Given the description of an element on the screen output the (x, y) to click on. 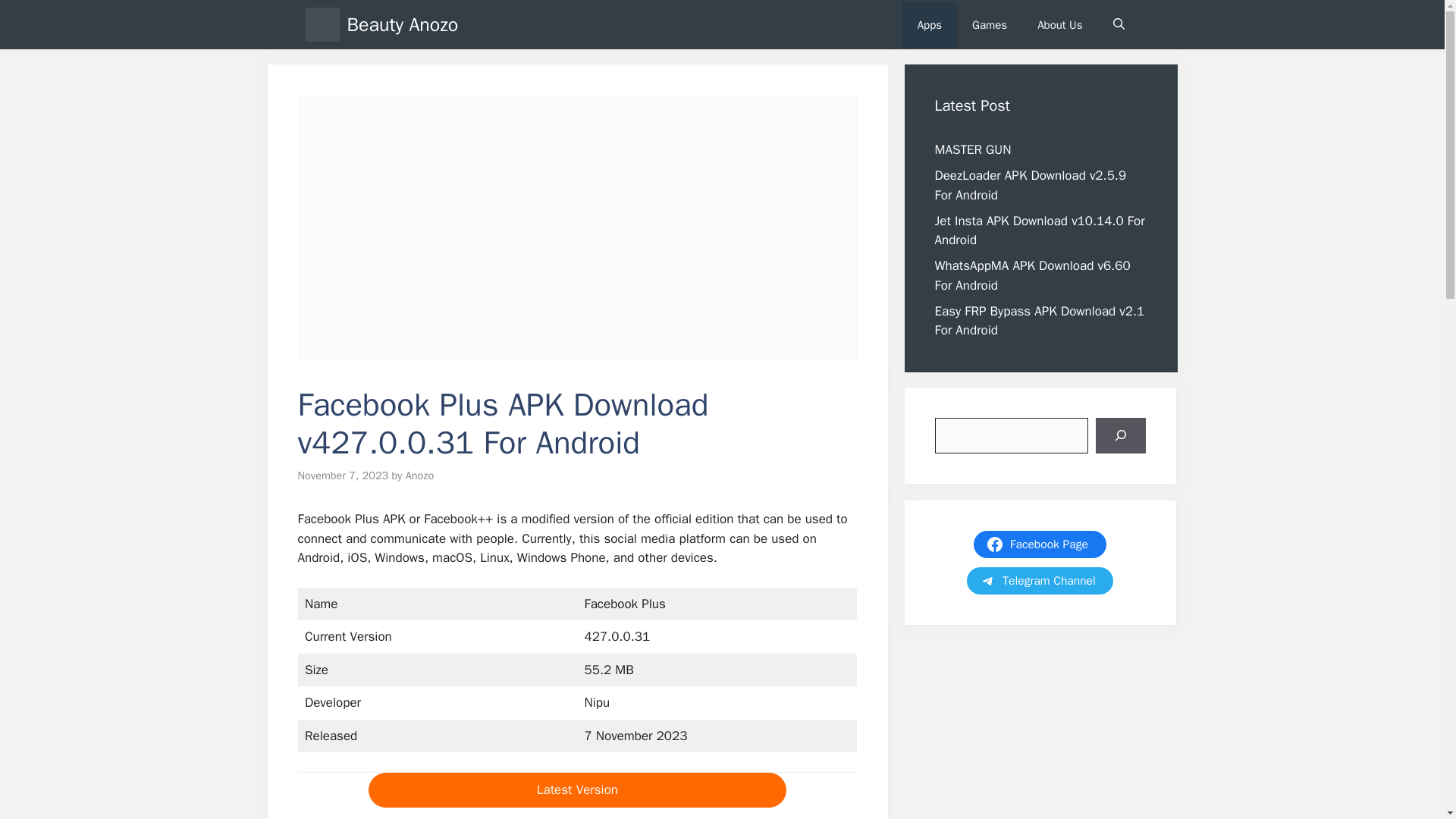
Facebook Page (1039, 543)
MASTER GUN (972, 149)
WhatsAppMA APK Download v6.60 For Android (1031, 275)
Easy FRP Bypass APK Download v2.1 For Android (1039, 321)
Jet Insta APK Download v10.14.0 For Android (1039, 230)
About Us (1059, 23)
Apps (929, 23)
Games (989, 23)
Telegram Channel (1039, 580)
Beauty Anozo (402, 24)
